Given the description of an element on the screen output the (x, y) to click on. 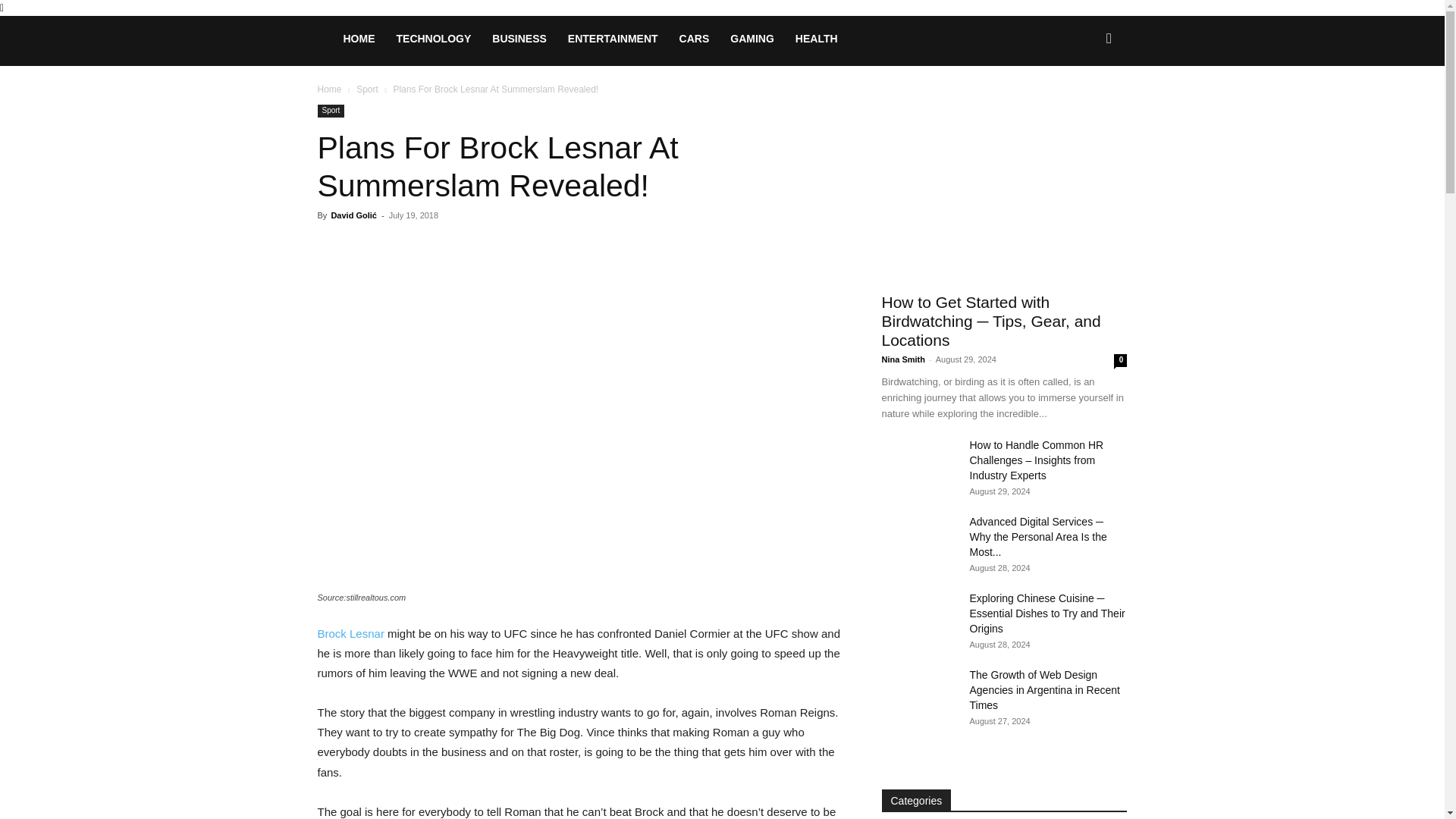
Home (328, 89)
HEALTH (816, 38)
HOME (358, 38)
TECHNOLOGY (433, 38)
Sport (367, 89)
Search (1085, 103)
BUSINESS (519, 38)
ENTERTAINMENT (612, 38)
Brock Lesnar (350, 633)
